Given the description of an element on the screen output the (x, y) to click on. 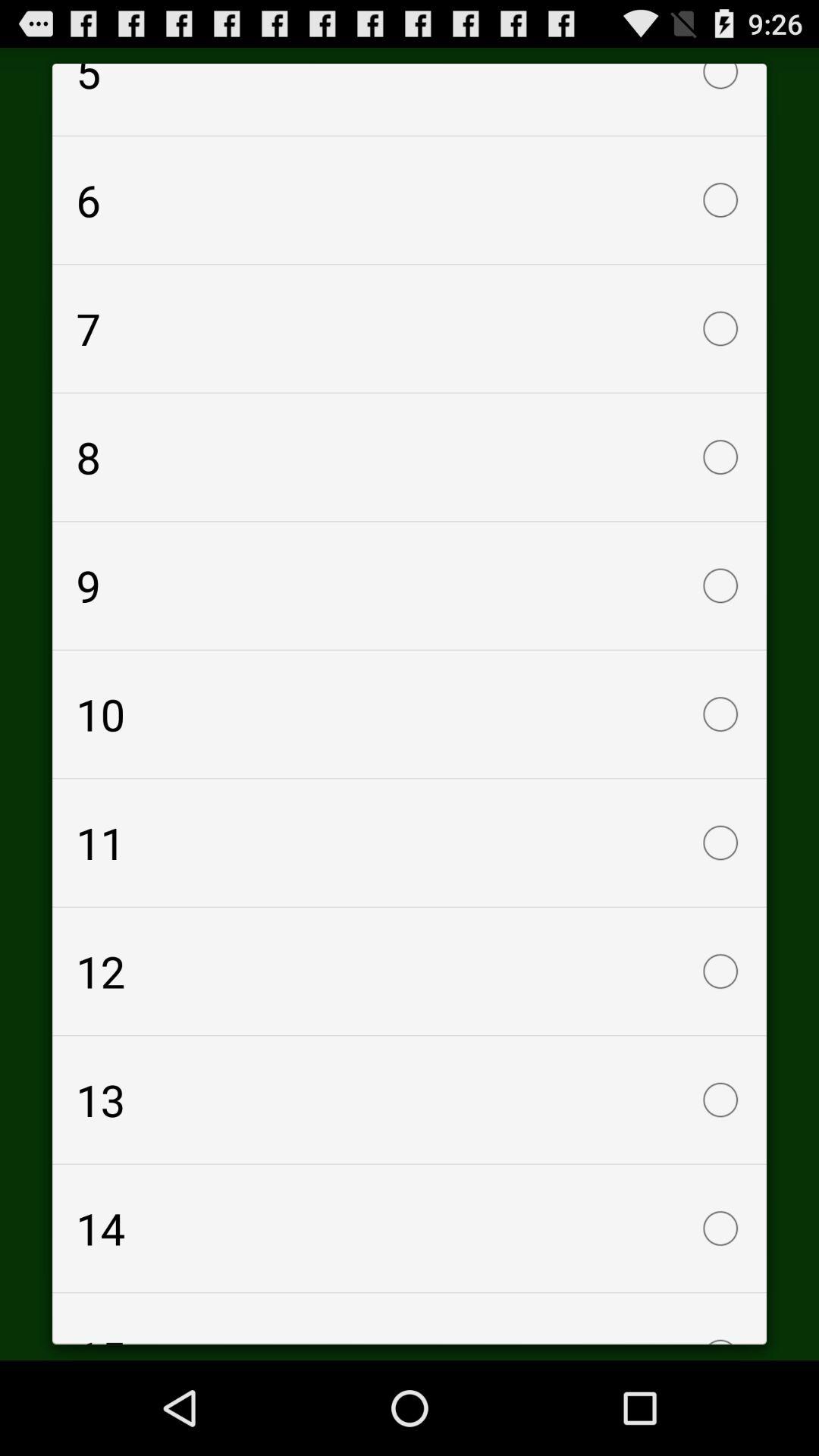
launch the icon above the 11 item (409, 714)
